Given the description of an element on the screen output the (x, y) to click on. 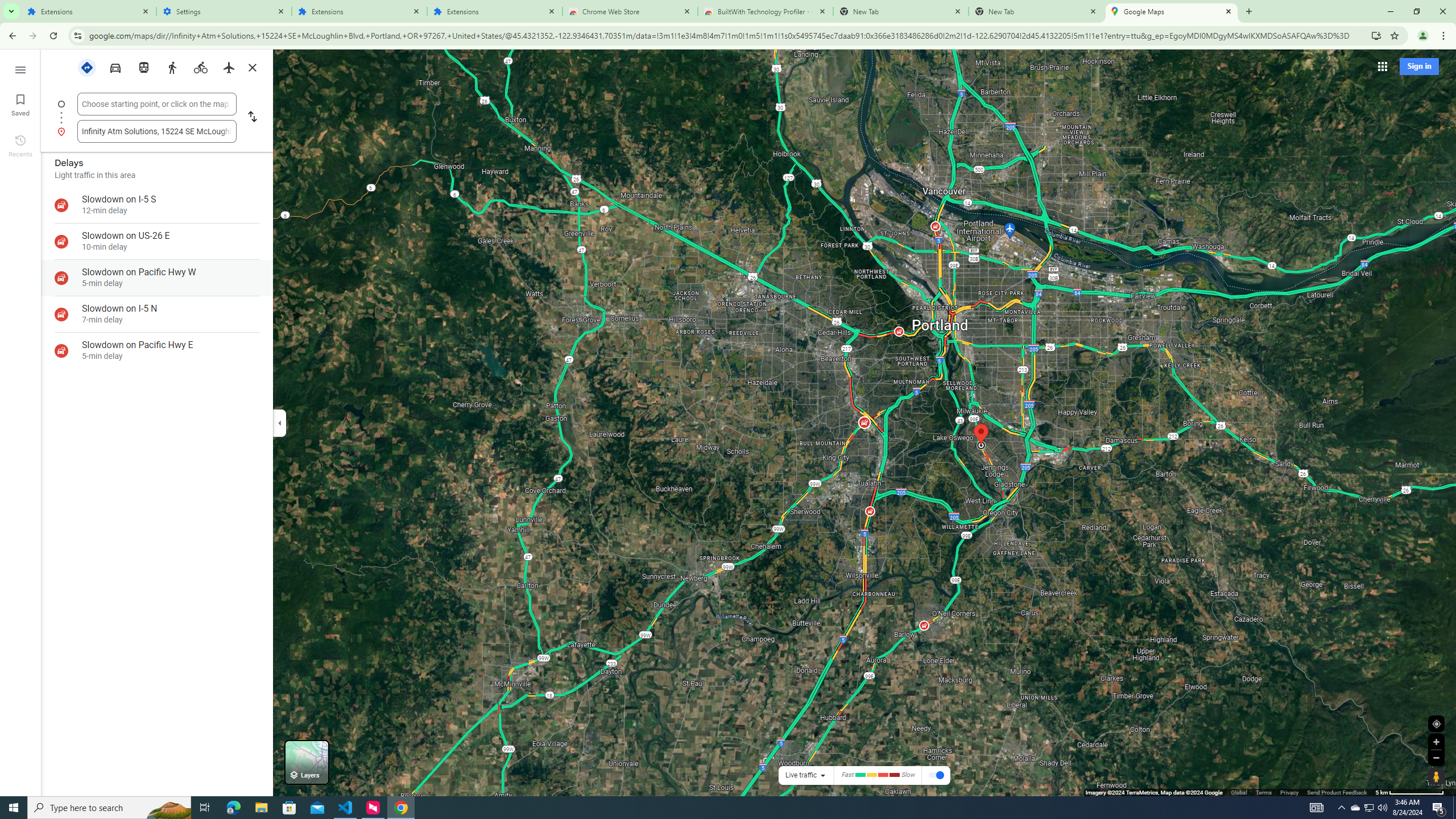
Menu (20, 68)
Zoom in (1436, 741)
Flights (228, 67)
Transit (143, 67)
Google Maps (1171, 11)
Saved (20, 104)
Collapse side panel (279, 422)
Best travel modes (86, 67)
Show Street View coverage (1436, 776)
